Given the description of an element on the screen output the (x, y) to click on. 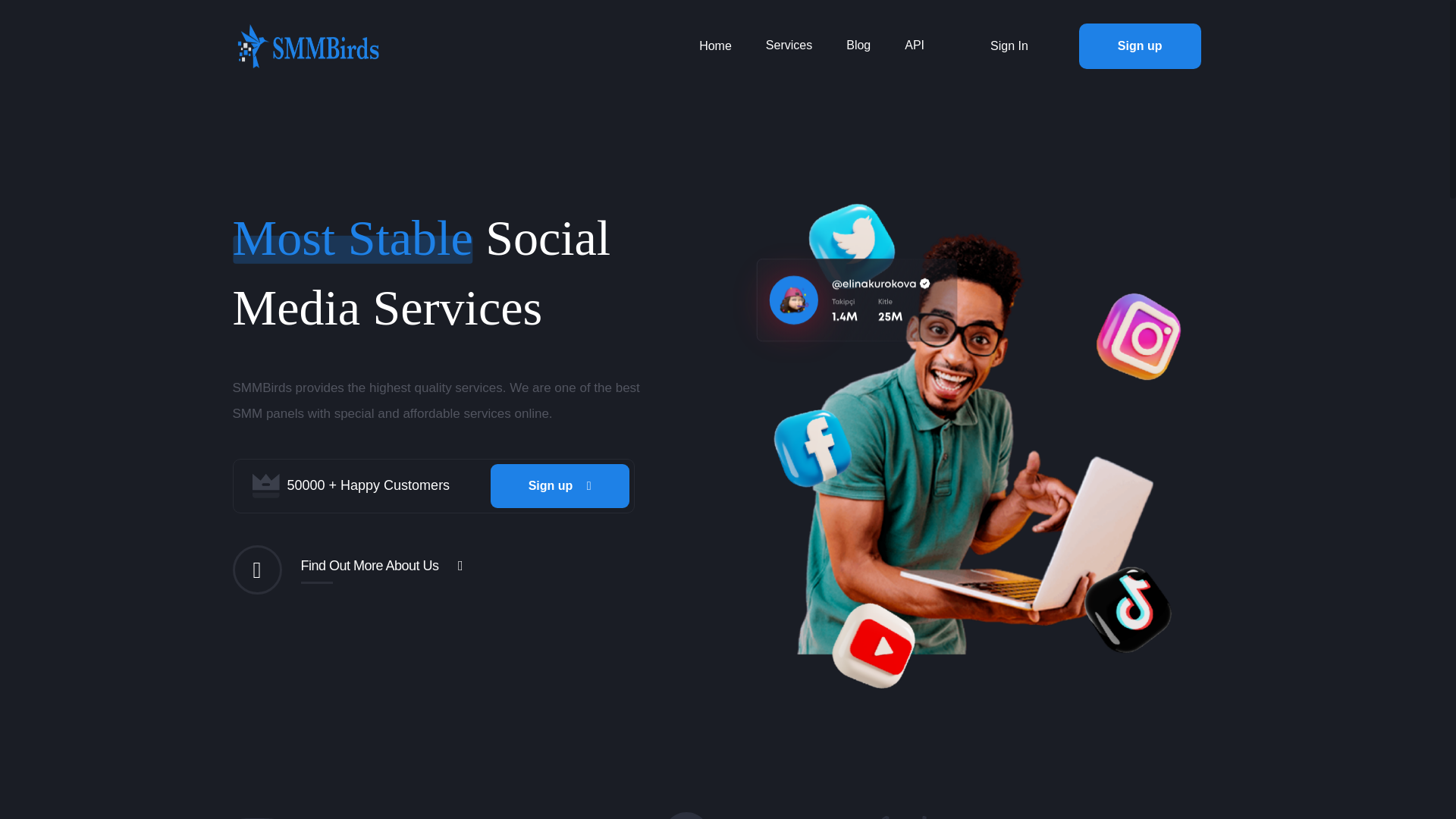
Services (788, 44)
API (914, 44)
Sign In (1008, 45)
SMMBirds (307, 44)
Find Out More About Us (381, 569)
Sign up (559, 485)
Sign up (1139, 44)
Blog (857, 44)
Home (715, 45)
